Given the description of an element on the screen output the (x, y) to click on. 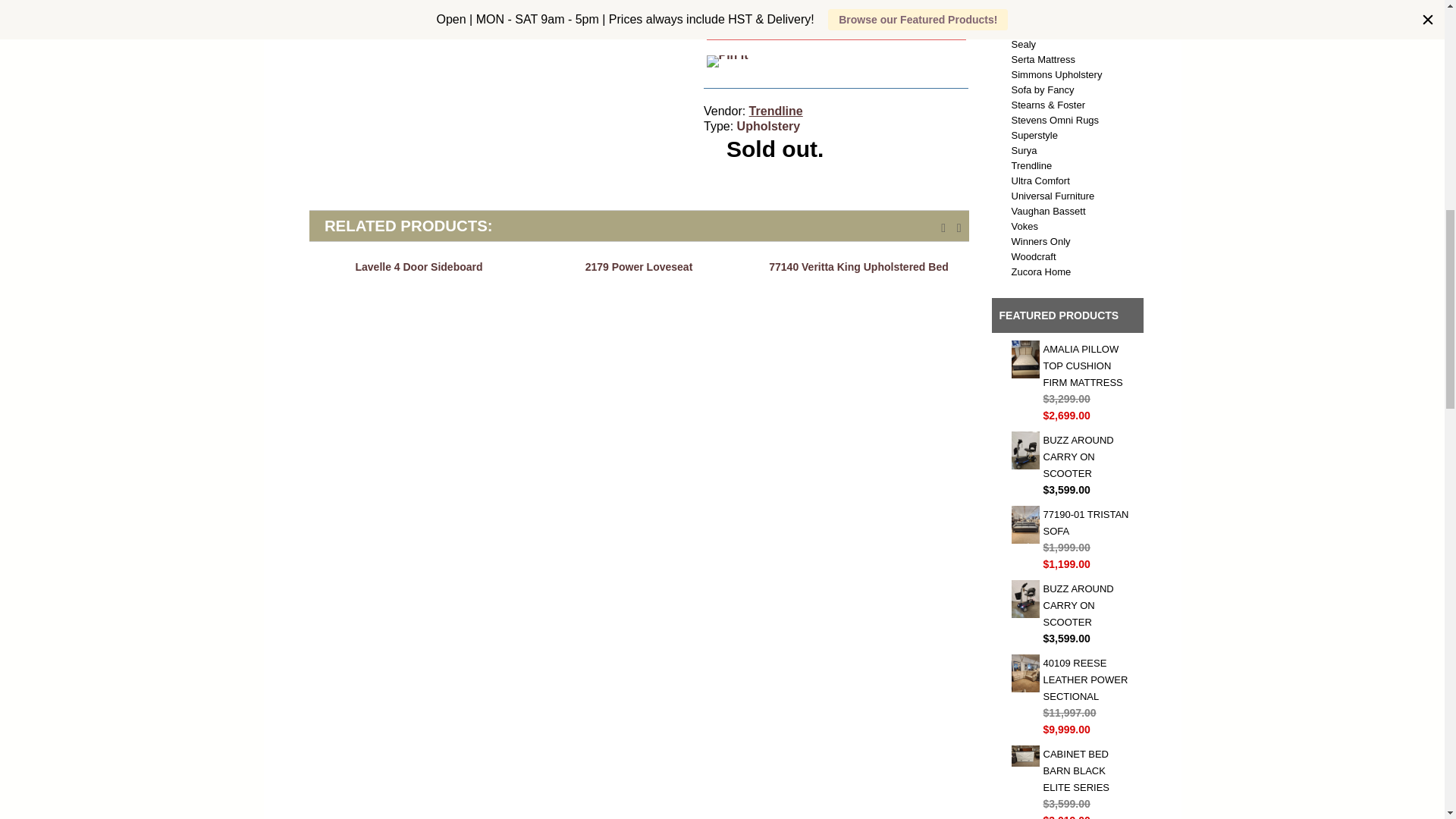
Upholstery (768, 125)
Trendline (776, 110)
Pin It (727, 61)
